Given the description of an element on the screen output the (x, y) to click on. 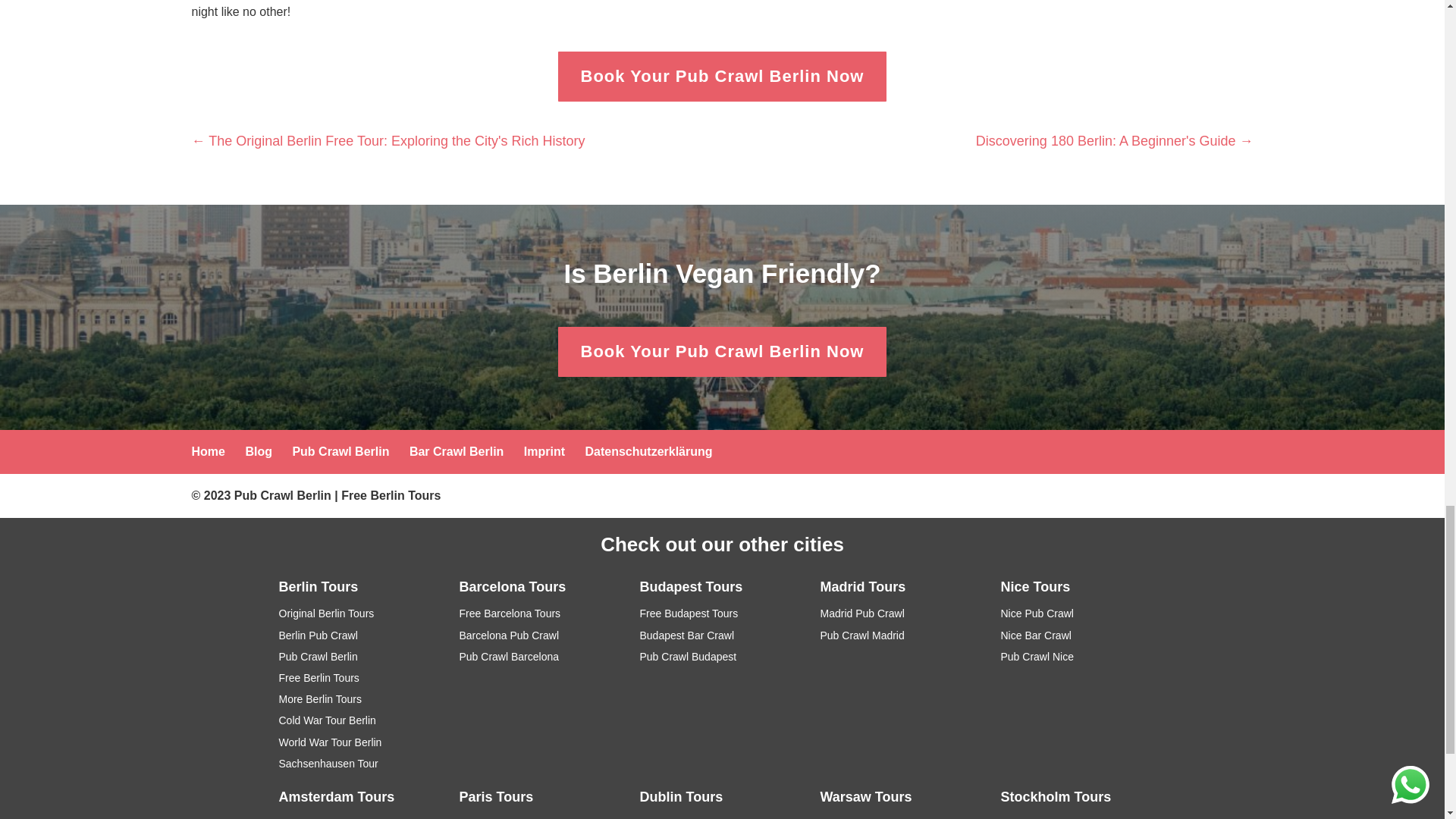
Original Berlin Tours (326, 613)
Free Berlin Tours (390, 495)
Berlin Pub Crawl (318, 635)
Book Your Pub Crawl Berlin Now (721, 351)
Bar Crawl Berlin (456, 451)
Blog (258, 451)
Book Your Pub Crawl Berlin Now (721, 76)
Pub Crawl Berlin (318, 656)
Pub Crawl Berlin (340, 451)
Home (207, 451)
Pub Crawl Berlin (282, 495)
Imprint (544, 451)
